Given the description of an element on the screen output the (x, y) to click on. 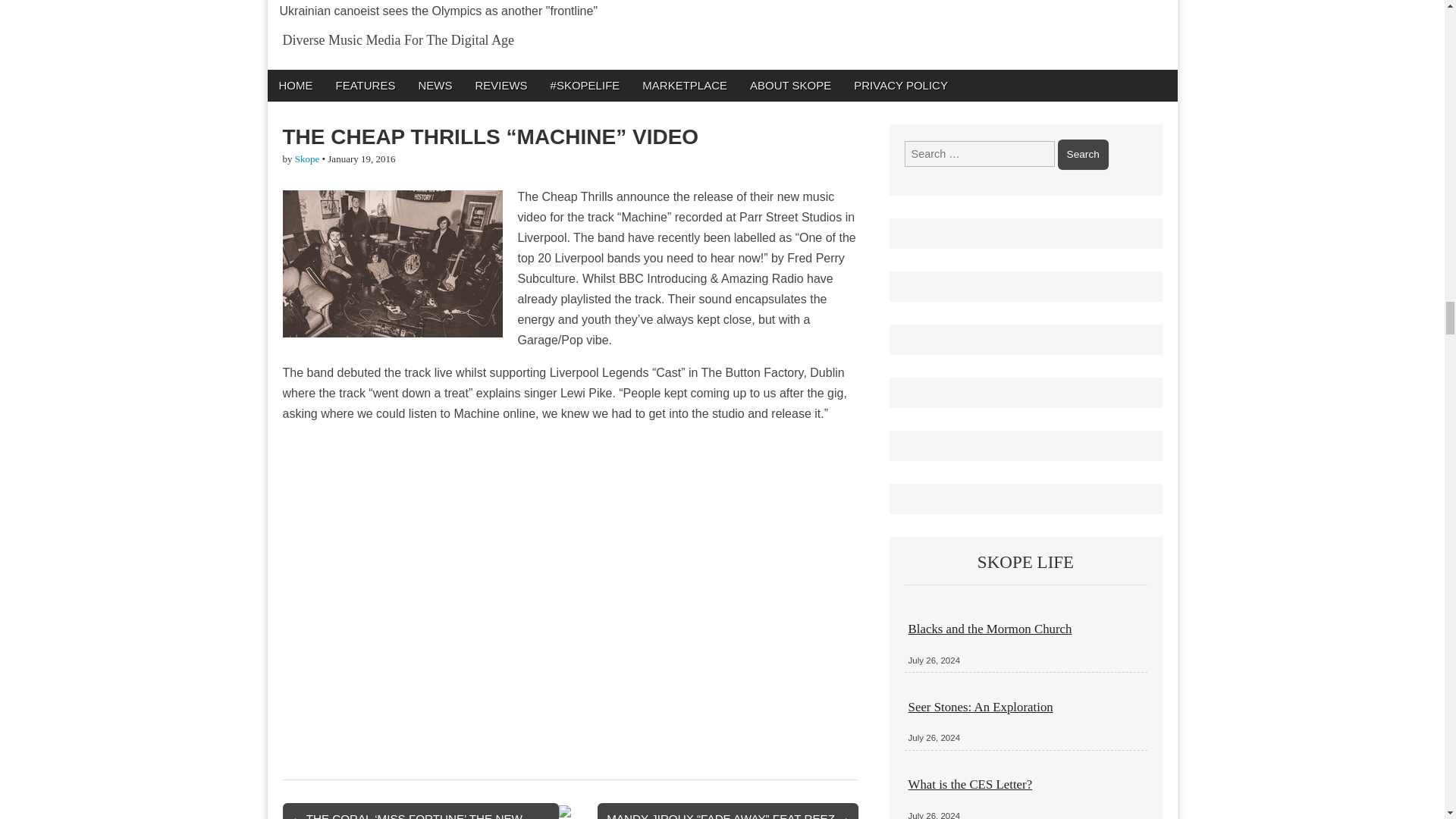
Posts by Skope (307, 158)
Search (1083, 154)
Blacks and the Mormon Church (989, 628)
Skope (307, 158)
REVIEWS (500, 84)
FEATURES (365, 84)
ABOUT SKOPE (790, 84)
MARKETPLACE (684, 84)
What is the CES Letter? (970, 784)
Seer Stones: An Exploration (980, 707)
PRIVACY POLICY (901, 84)
Search (1083, 154)
Search (1083, 154)
